Given the description of an element on the screen output the (x, y) to click on. 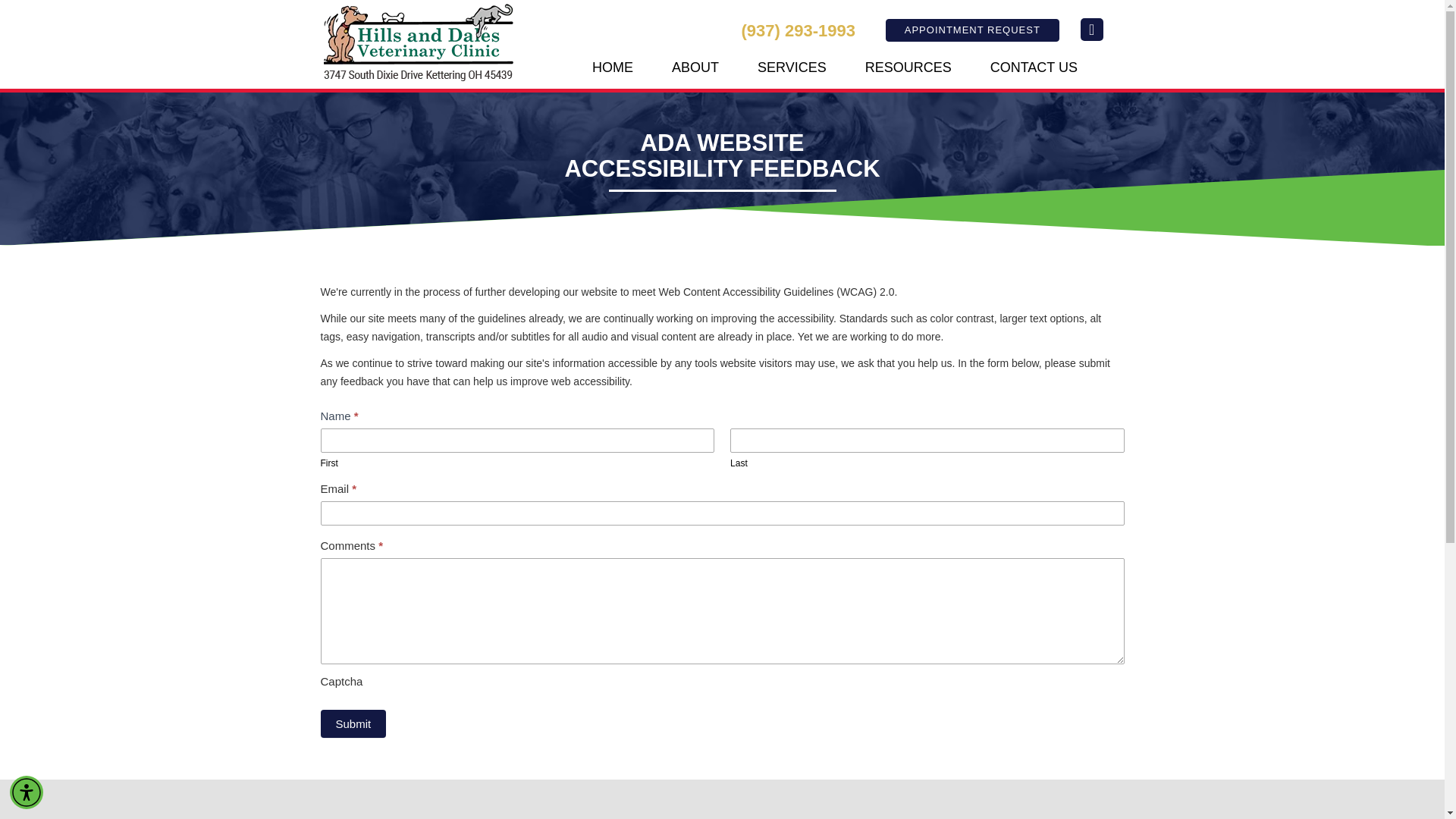
Accessibility Menu (26, 792)
ABOUT (695, 67)
logo-1new (418, 42)
APPOINTMENT REQUEST (972, 29)
HOME (612, 67)
